Given the description of an element on the screen output the (x, y) to click on. 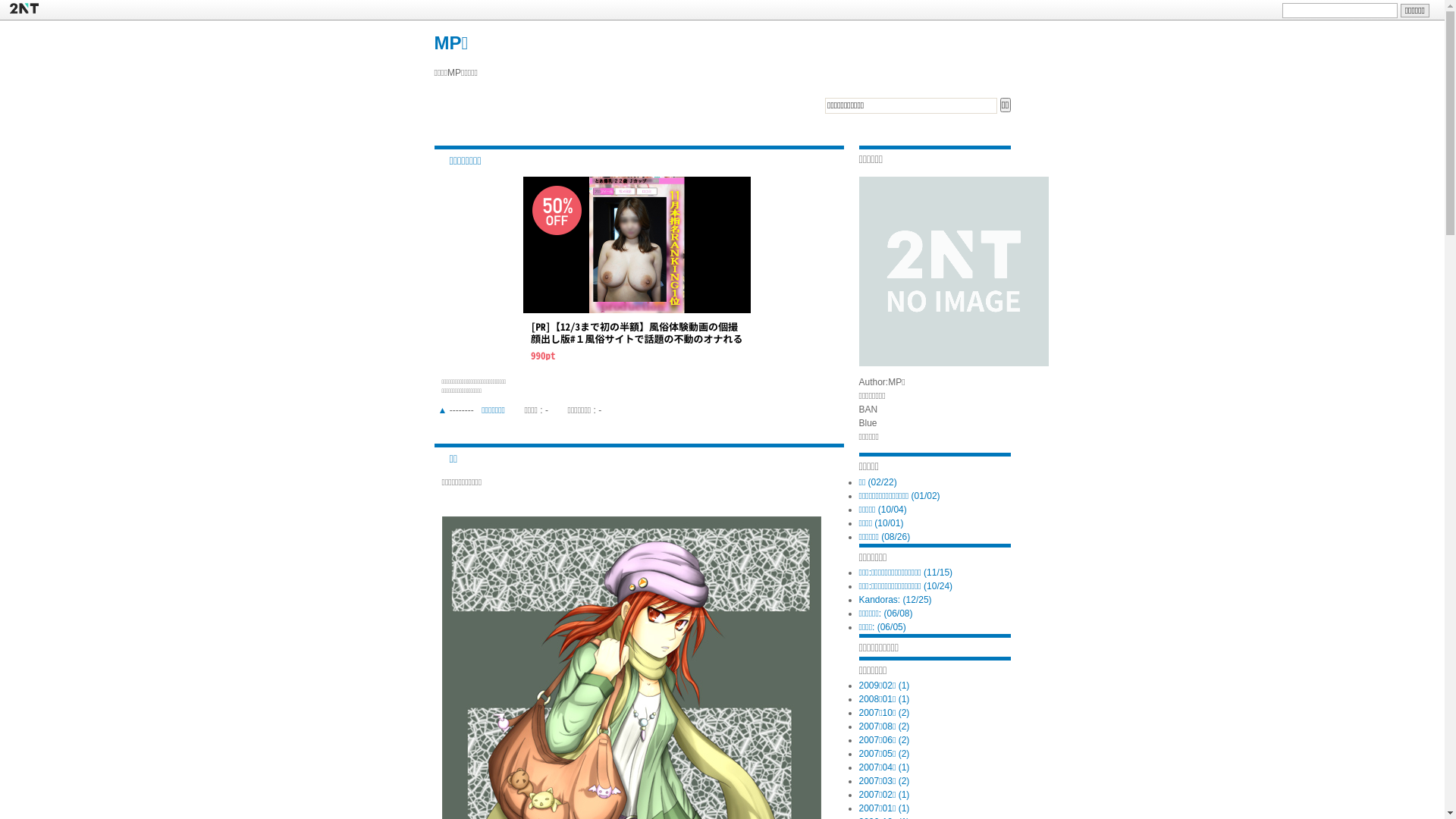
Kandoras: (12/25) Element type: text (894, 599)
